Given the description of an element on the screen output the (x, y) to click on. 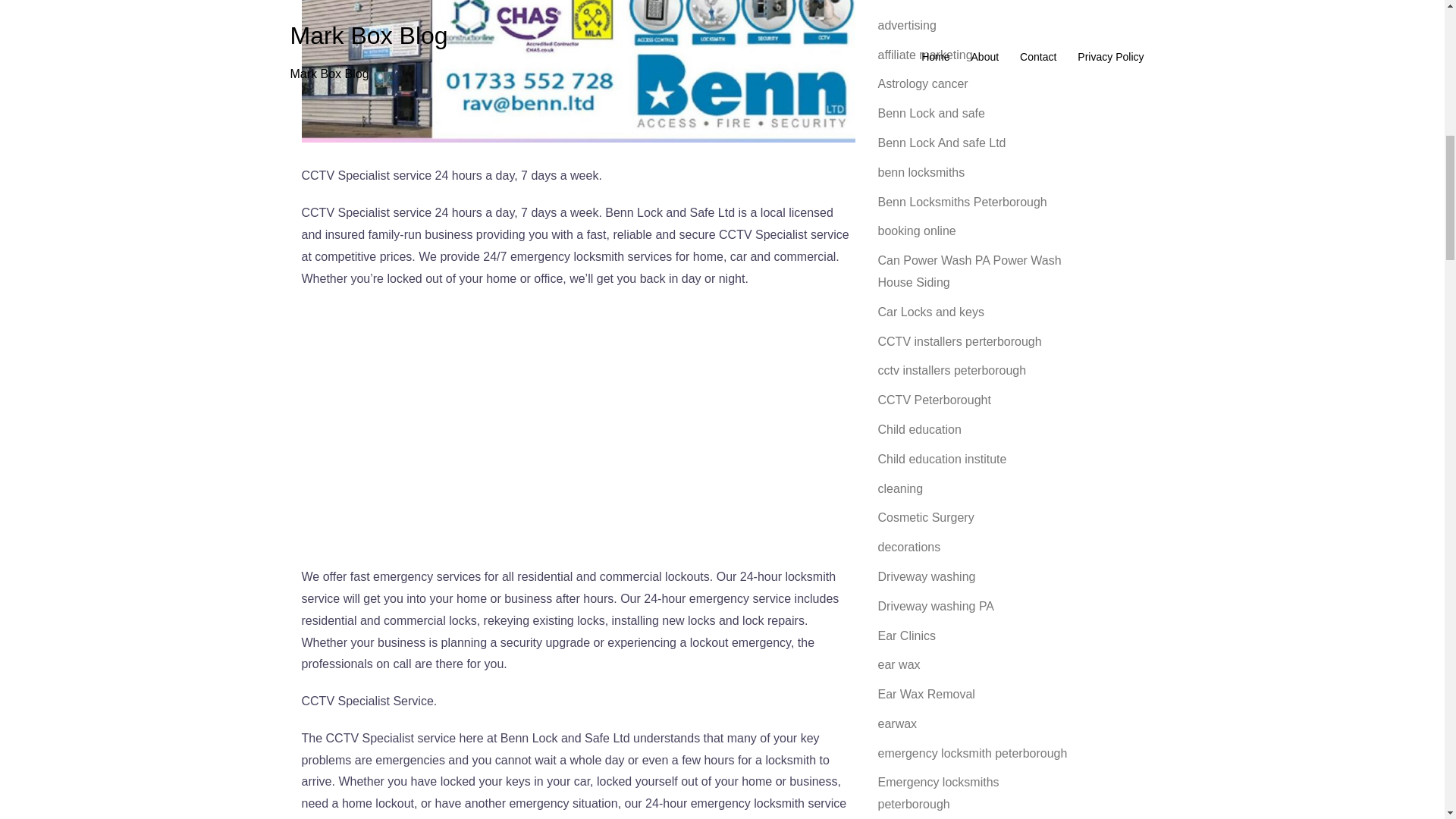
Child education (918, 429)
Car Locks and keys (931, 311)
booking online (916, 230)
Benn Lock and safe (931, 113)
affiliate marketing (924, 54)
CCTV Peterborought (934, 399)
Benn Locksmiths Peterborough (961, 201)
cctv installers peterborough (951, 369)
YouTube video player (577, 423)
benn locksmiths (921, 172)
